Given the description of an element on the screen output the (x, y) to click on. 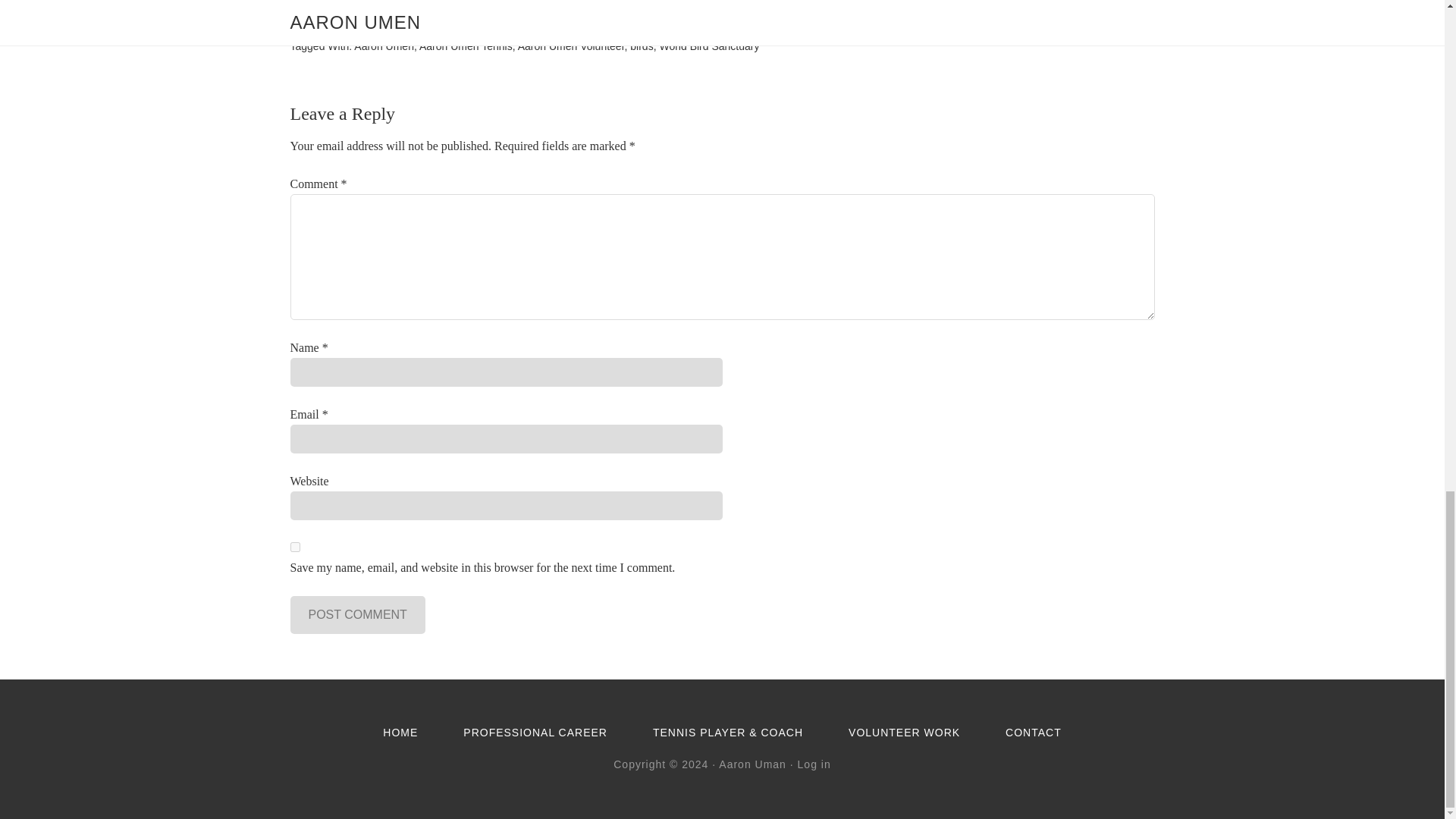
Post Comment (357, 614)
Aaron Umen Volunteer (571, 45)
Bird Watching (383, 28)
Aaron Umen (383, 45)
PROFESSIONAL CAREER (535, 732)
Aaron Umen Tennis (465, 45)
birds (641, 45)
yes (294, 547)
HOME (399, 732)
Log in (814, 764)
